Given the description of an element on the screen output the (x, y) to click on. 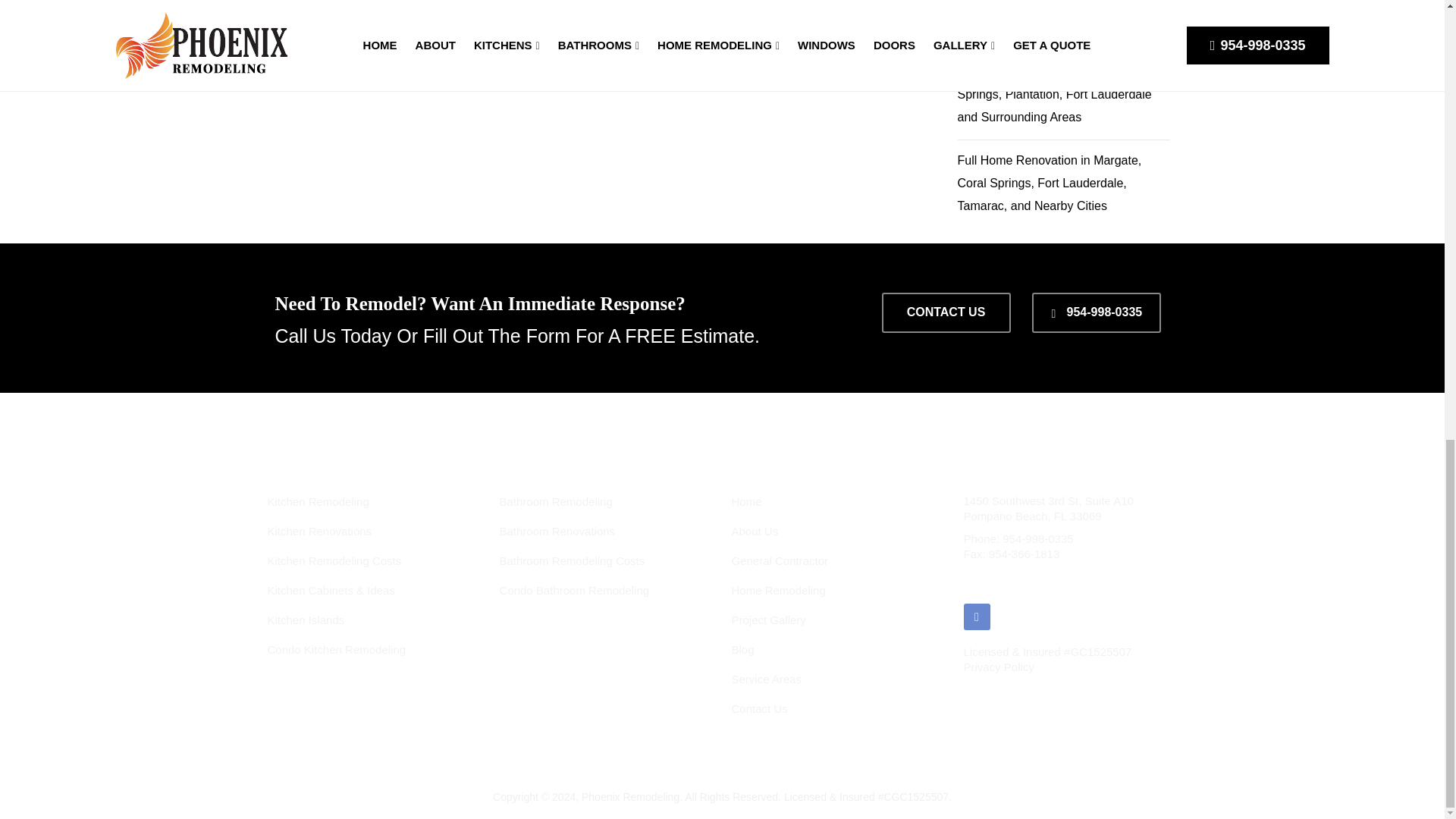
954-998-0335 (1096, 312)
Facebook (976, 616)
Kitchen Remodeling (317, 501)
CONTACT US (945, 312)
Kitchen Remodeling Costs (333, 560)
Kitchen Renovations (318, 530)
